Given the description of an element on the screen output the (x, y) to click on. 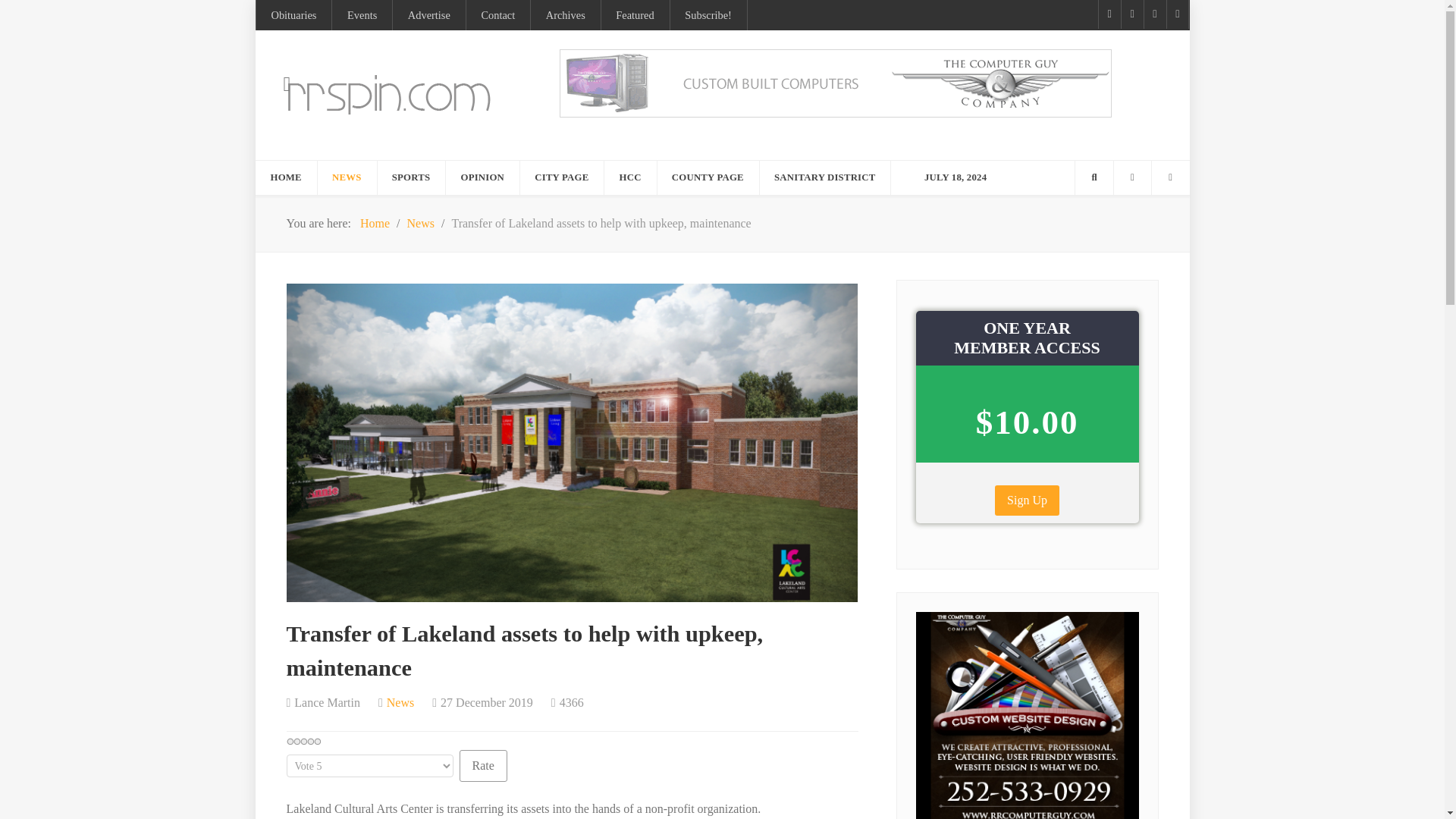
RRSpin Twitter (1177, 14)
Facebook (1109, 14)
SPORTS (411, 177)
Hits:  (567, 702)
Events (361, 15)
Computer Guy Header (835, 82)
Contact (497, 15)
RRSpin Instangram (1154, 14)
Obituaries (293, 15)
HCC (631, 177)
Rate (483, 766)
Subscribe! (707, 15)
CITY PAGE (561, 177)
COUNTY PAGE (708, 177)
Search (1093, 177)
